Given the description of an element on the screen output the (x, y) to click on. 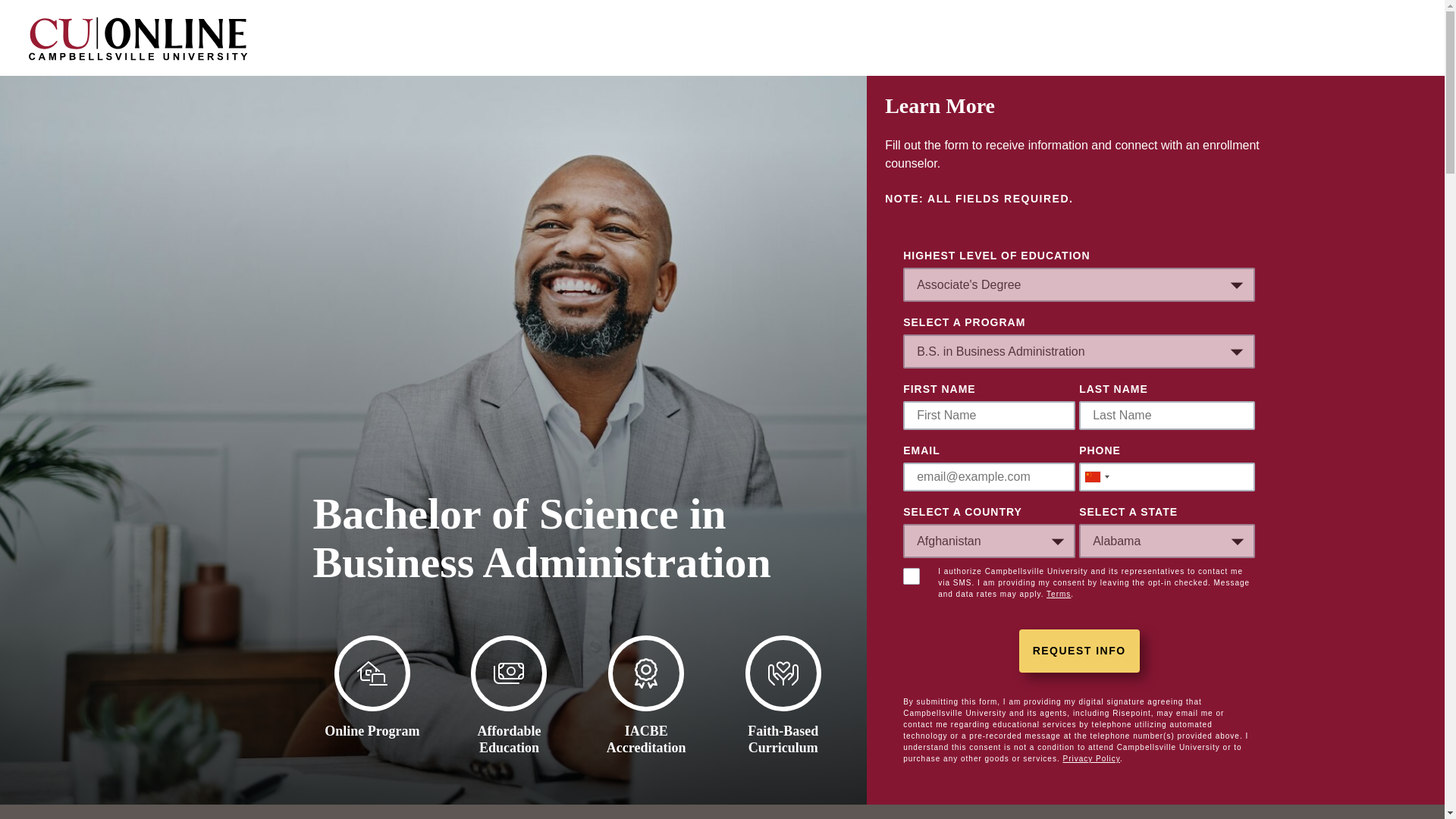
on (911, 576)
CURRICULUM (727, 811)
Terms (1058, 593)
Privacy Policy (1090, 758)
REQUEST INFO (1079, 650)
CAREERS (849, 811)
PROGRAMS (601, 811)
